Given the description of an element on the screen output the (x, y) to click on. 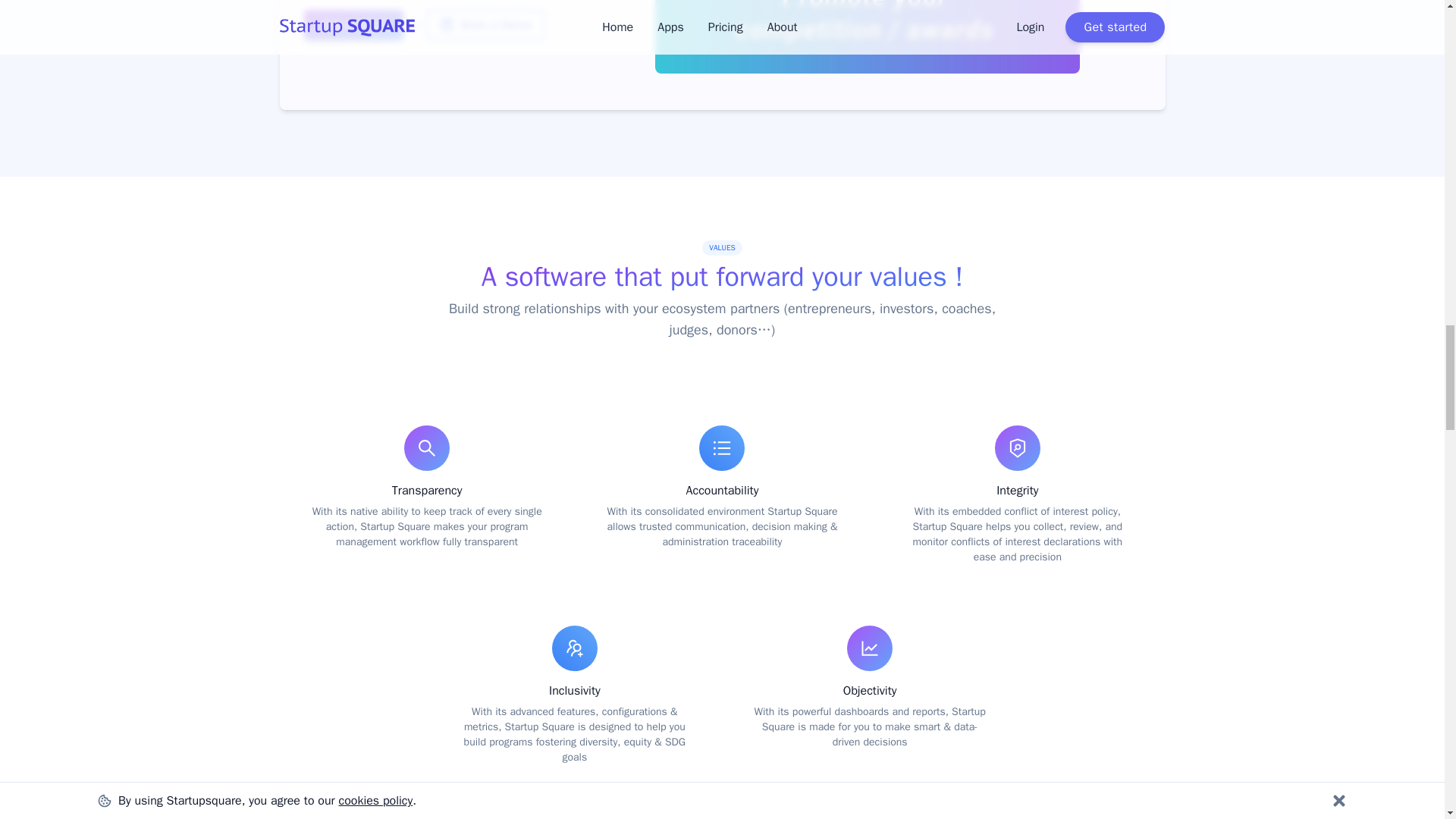
Book a Demo (485, 24)
Get started (352, 24)
